Given the description of an element on the screen output the (x, y) to click on. 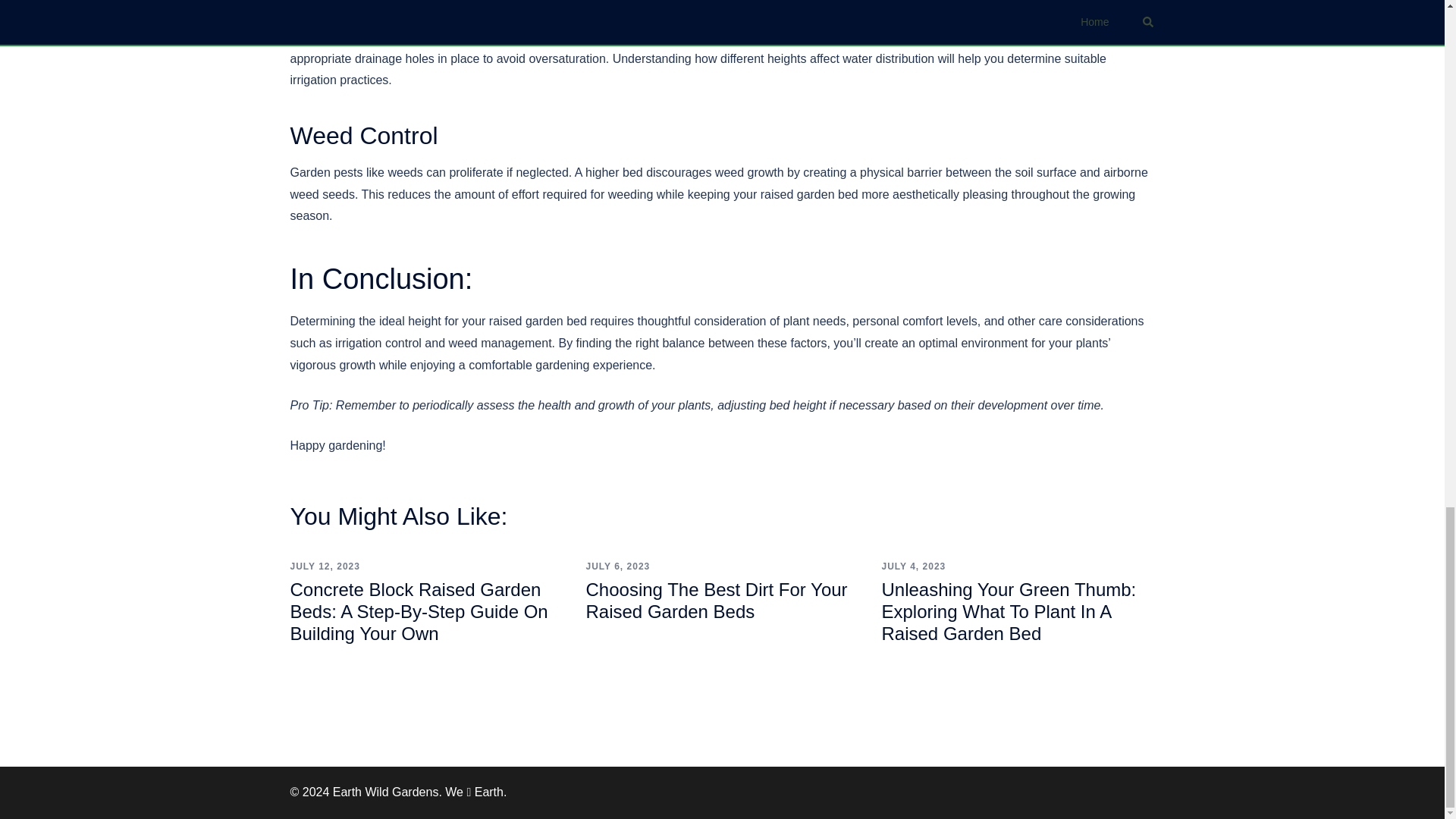
JULY 6, 2023 (617, 566)
JULY 12, 2023 (324, 566)
JULY 4, 2023 (912, 566)
Choosing The Best Dirt For Your Raised Garden Beds (716, 600)
